Given the description of an element on the screen output the (x, y) to click on. 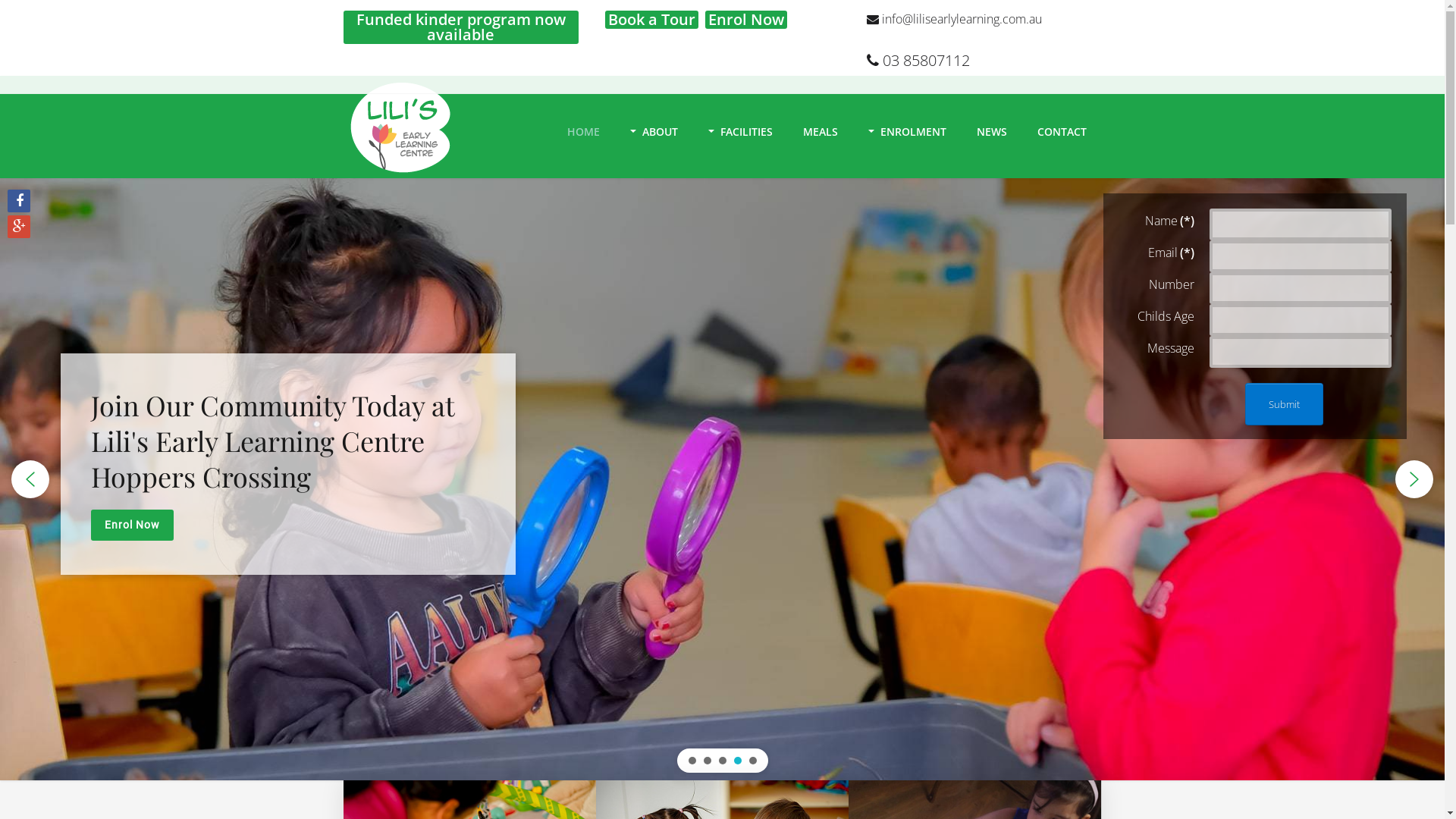
ABOUT Element type: text (653, 127)
Funded kinder program now available Element type: text (459, 26)
MEALS Element type: text (819, 127)
HOME Element type: text (583, 127)
Enrol Now Element type: text (746, 19)
NEWS Element type: text (991, 127)
Book a Tour Element type: text (136, 524)
Submit Element type: text (1284, 403)
info@lilisearlylearning.com.au Element type: text (953, 18)
Book a Tour Element type: text (651, 19)
CONTACT Element type: text (1061, 127)
03 85807112 Element type: text (917, 60)
